Given the description of an element on the screen output the (x, y) to click on. 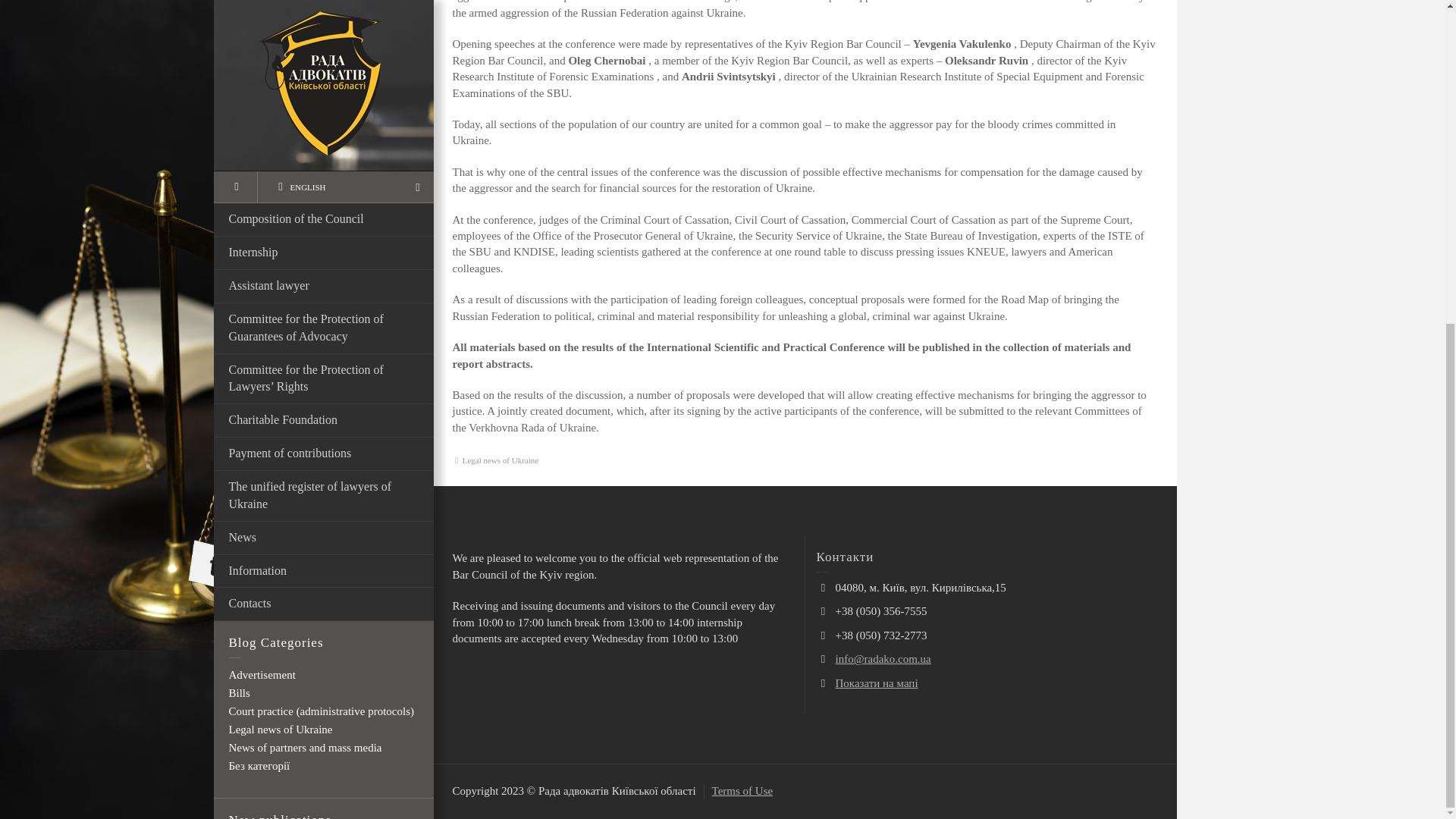
News (323, 13)
Terms of Use (742, 790)
Advertisement (261, 146)
Contacts (323, 75)
Happy birthday to lawyer Nina Chernobay! (345, 506)
Information (323, 42)
Happy birthday to lawyer Nina Chernobay! (345, 506)
News of partners and mass media (304, 218)
Bills (239, 164)
Legal news of Ukraine (280, 200)
Legal news of Ukraine (500, 460)
